Given the description of an element on the screen output the (x, y) to click on. 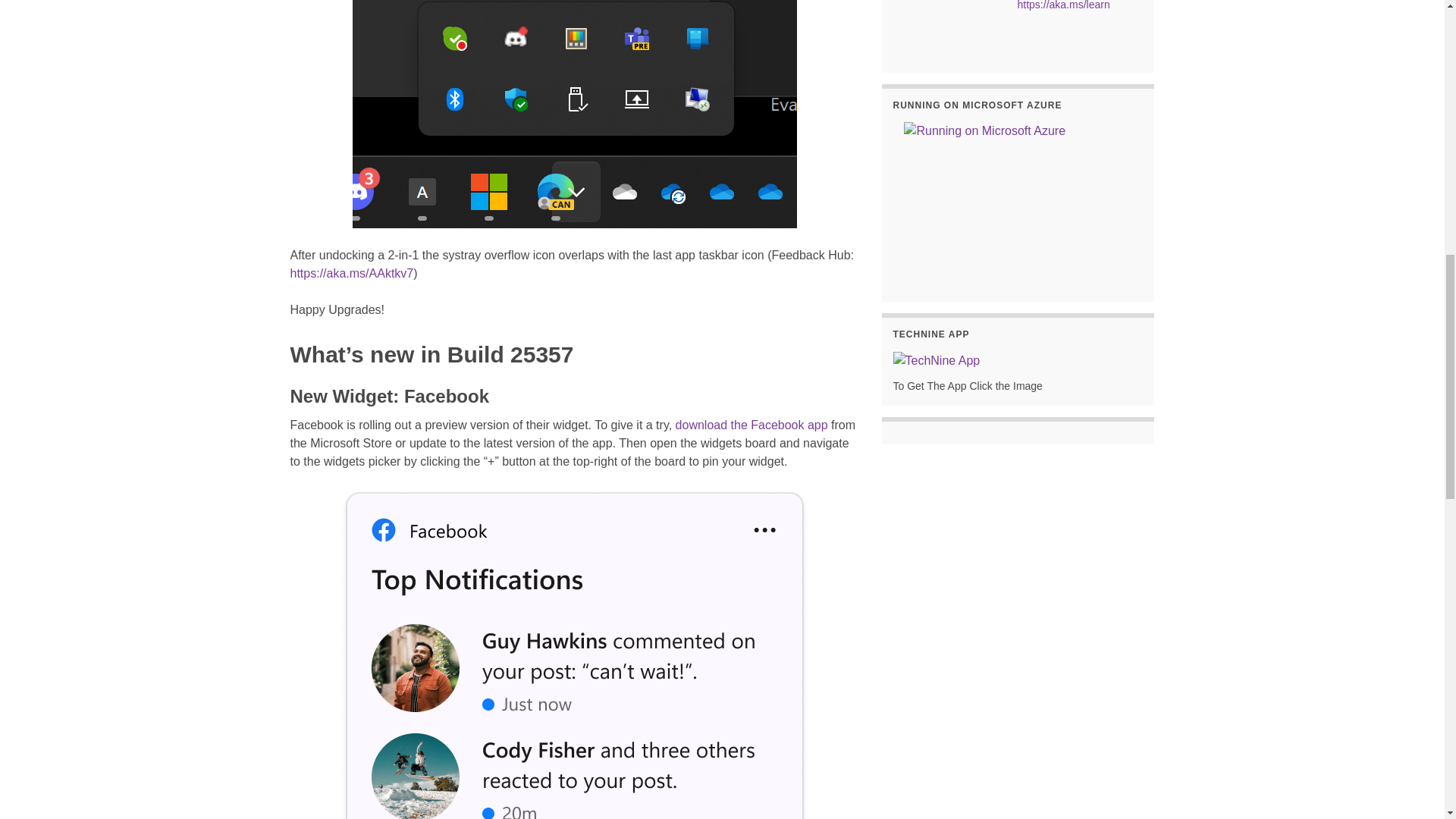
download the Facebook app (751, 424)
TechNine App (936, 359)
Running on Microsoft Azure (1017, 200)
